Given the description of an element on the screen output the (x, y) to click on. 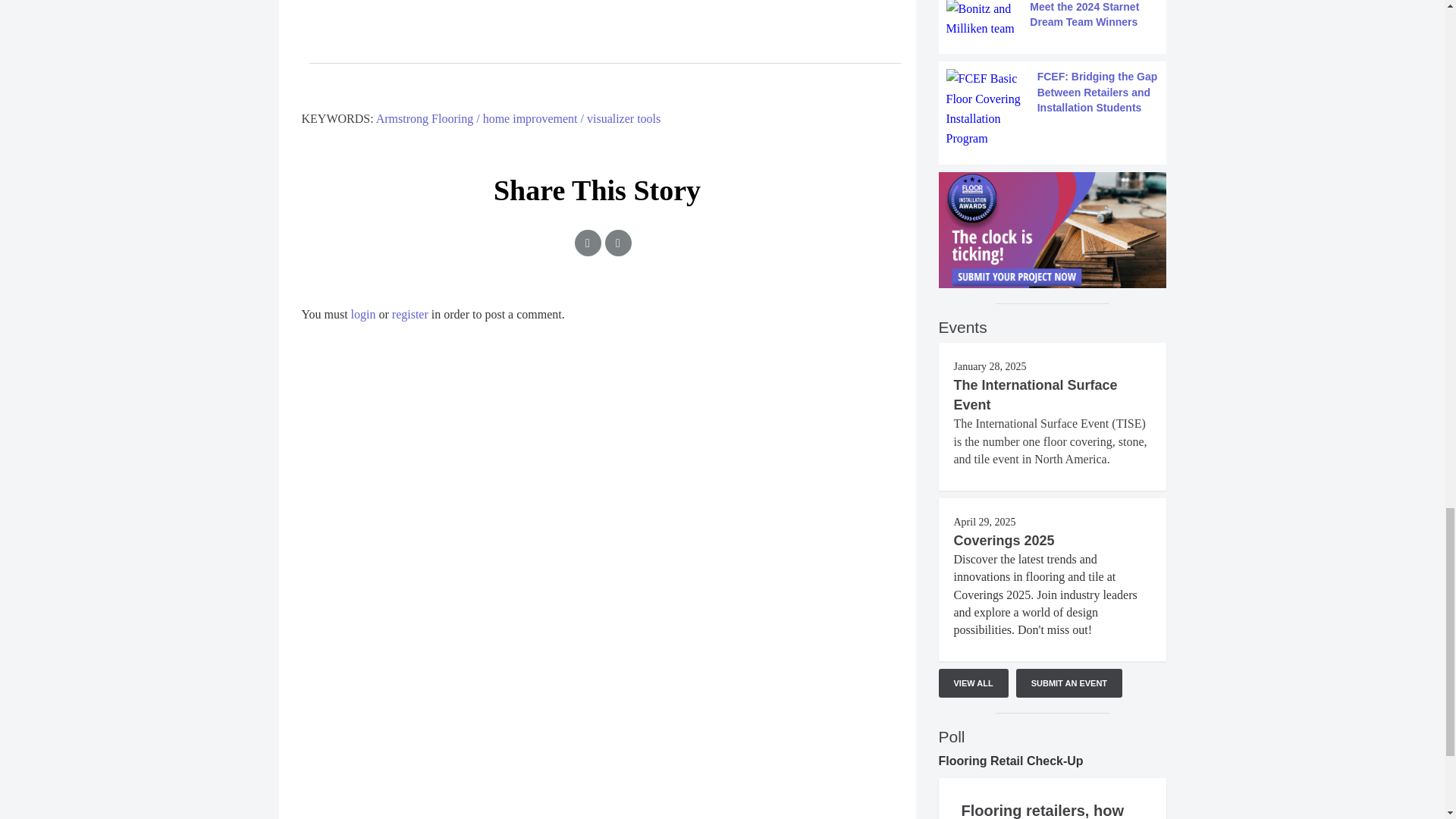
Coverings 2025 (1003, 540)
Meet the 2024 Starnet Dream Team Winners (1052, 19)
The International Surface Event (1035, 394)
